Given the description of an element on the screen output the (x, y) to click on. 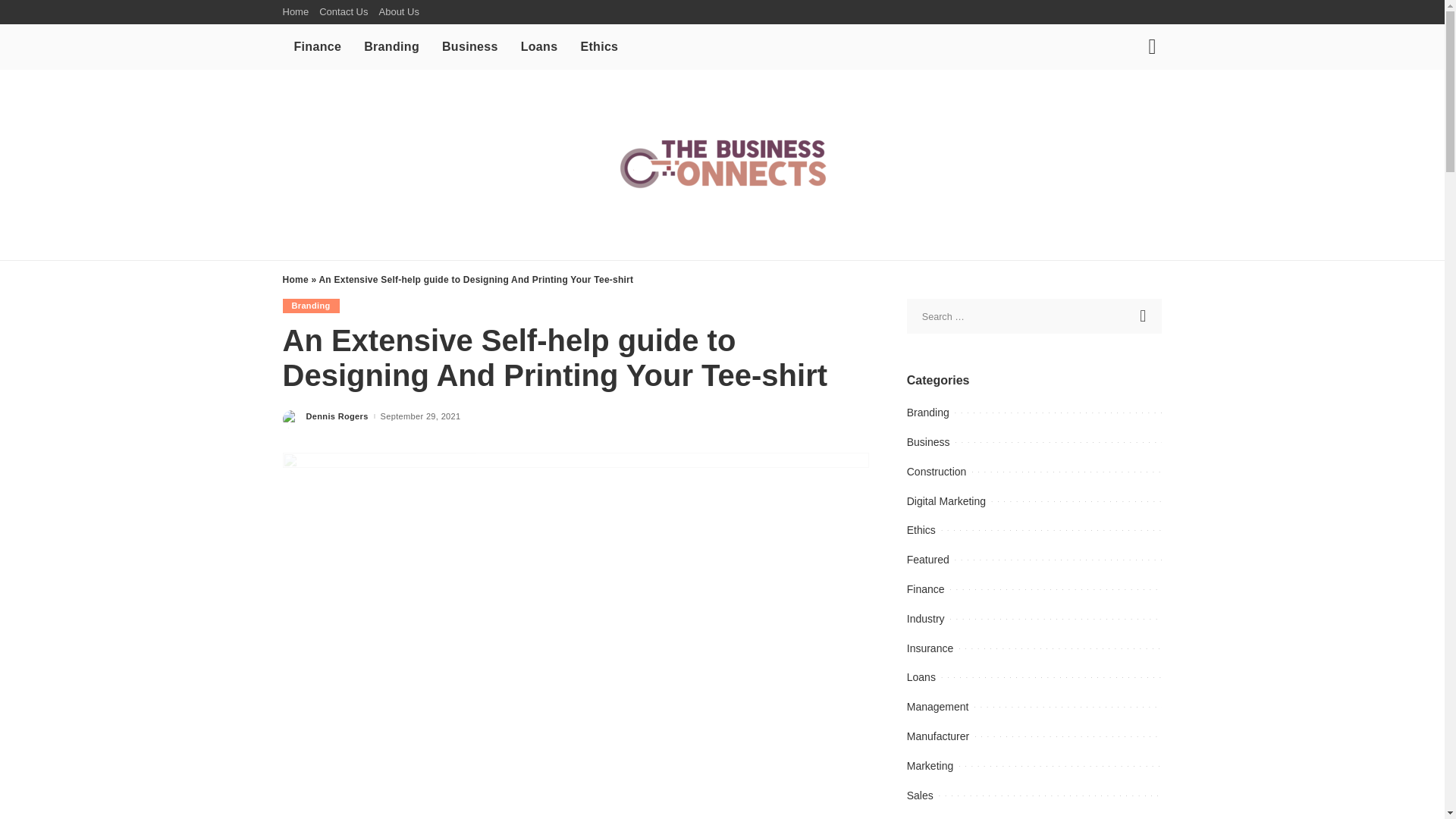
Branding (310, 305)
Contact Us (343, 11)
Home (294, 279)
About Us (397, 11)
Branding (391, 46)
Finance (317, 46)
The Business Connects (721, 164)
Loans (539, 46)
Home (298, 11)
Business (469, 46)
Dennis Rogers (336, 416)
Search (1140, 100)
Ethics (598, 46)
Search (1143, 315)
Search (1143, 315)
